Given the description of an element on the screen output the (x, y) to click on. 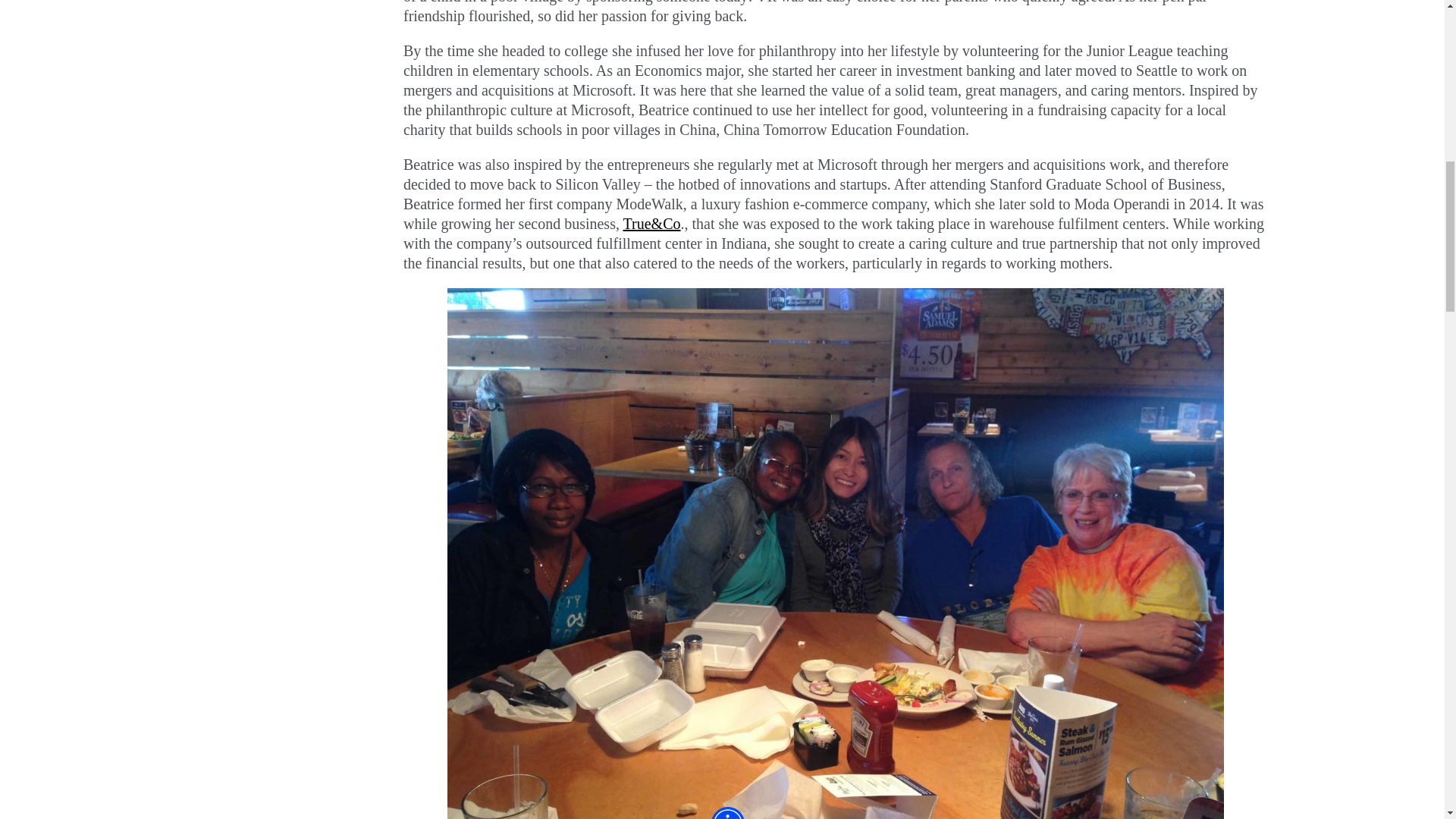
Accessibility Menu (727, 10)
